Given the description of an element on the screen output the (x, y) to click on. 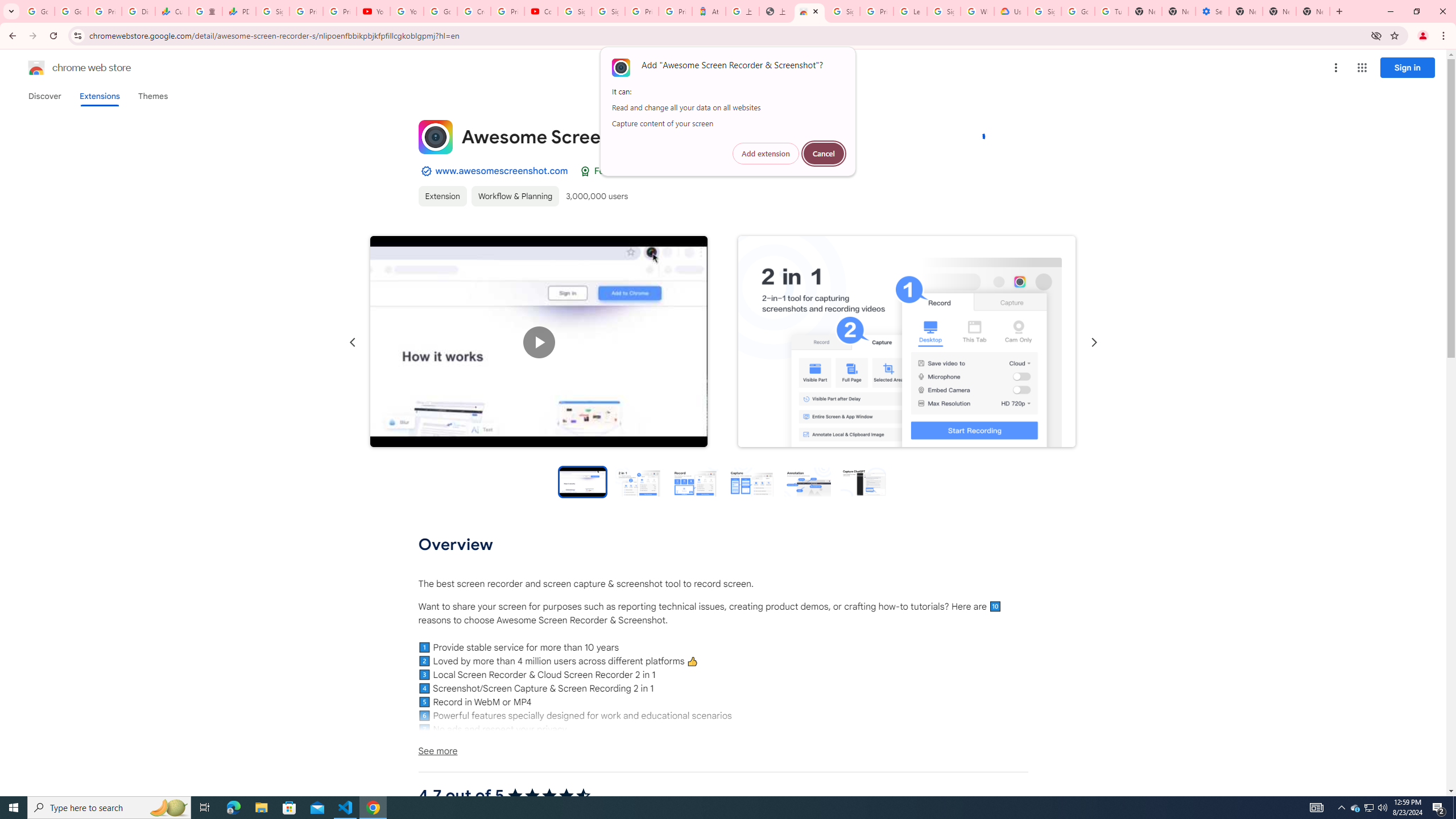
Microsoft Store (289, 807)
Extensions (99, 95)
Google Chrome - 1 running window (373, 807)
New Tab (1313, 11)
Themes (152, 95)
Currencies - Google Finance (171, 11)
Visual Studio Code - 1 running window (345, 807)
Next slide (1093, 342)
New Tab (1246, 11)
YouTube (406, 11)
Item video thumbnail (582, 481)
